Given the description of an element on the screen output the (x, y) to click on. 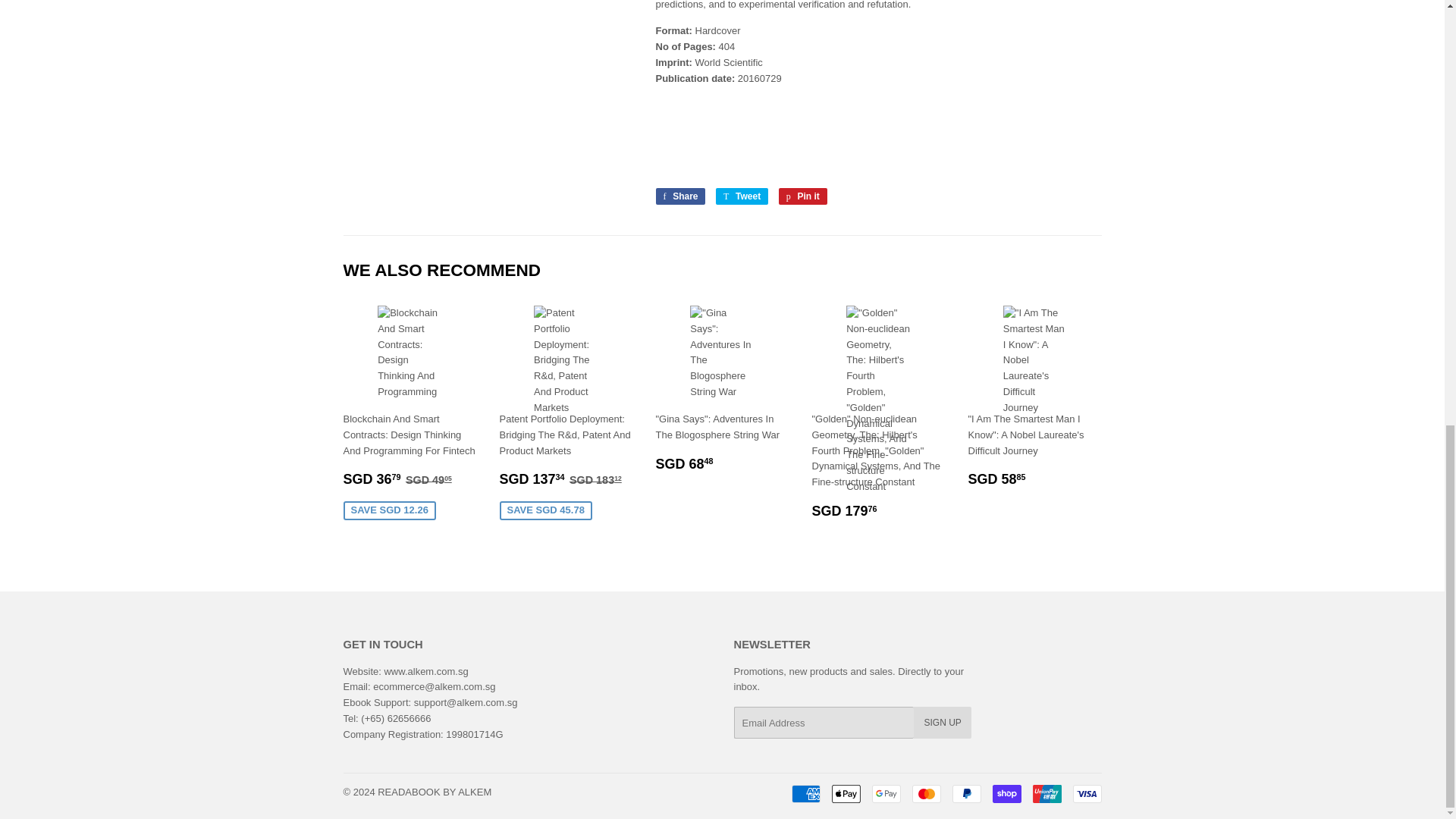
Pin on Pinterest (802, 196)
Apple Pay (845, 793)
Google Pay (886, 793)
Mastercard (925, 793)
American Express (806, 793)
Shop Pay (1005, 793)
Share on Facebook (679, 196)
Union Pay (1046, 793)
Visa (1085, 793)
PayPal (966, 793)
Tweet on Twitter (742, 196)
